Given the description of an element on the screen output the (x, y) to click on. 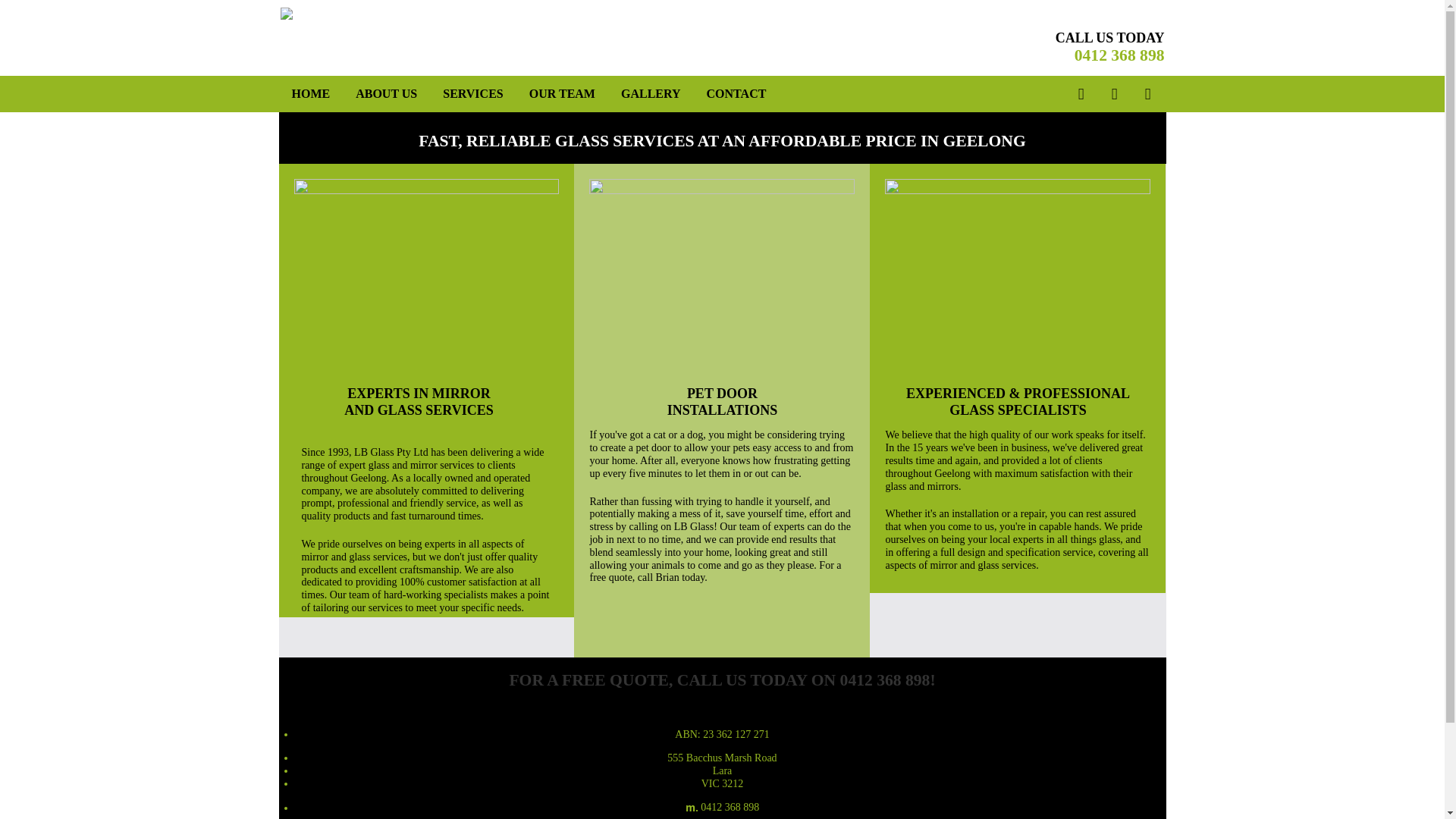
lb glass logo Element type: hover (389, 13)
CONTACT Element type: text (736, 93)
0412 368 898 Element type: text (1119, 55)
GALLERY Element type: text (650, 93)
OUR TEAM Element type: text (562, 93)
0412 368 898 Element type: text (729, 806)
0412 368 898 Element type: text (885, 680)
SERVICES Element type: text (472, 93)
ABOUT US Element type: text (386, 93)
HOME Element type: text (310, 93)
